Given the description of an element on the screen output the (x, y) to click on. 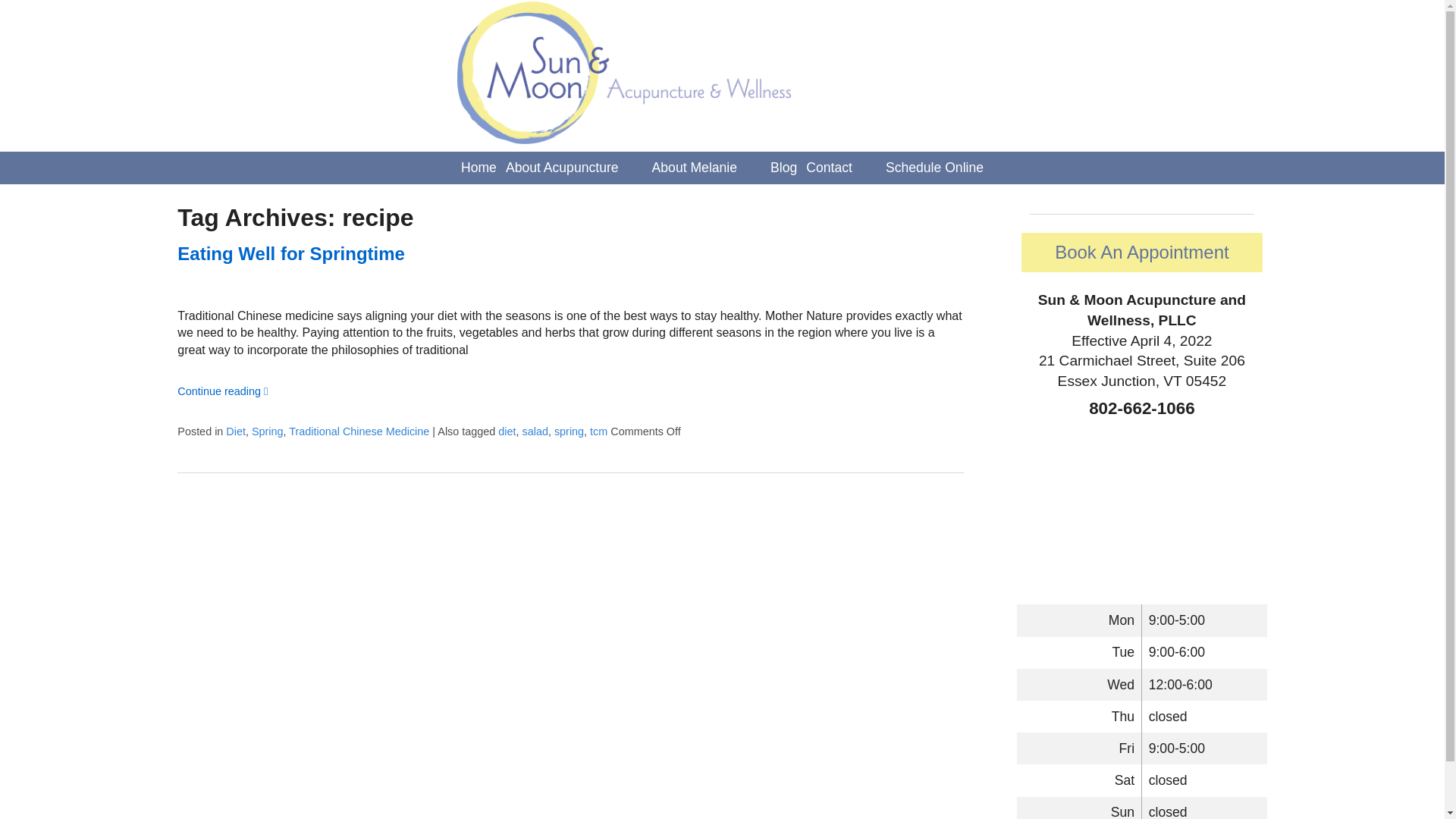
About Melanie (694, 167)
Home (478, 167)
salad (534, 431)
spring (568, 431)
Contact (829, 167)
Blog (783, 167)
Continue reading (222, 390)
tcm (598, 431)
Read (290, 253)
Schedule Online (934, 167)
Eating Well for Springtime (290, 253)
Traditional Chinese Medicine (358, 431)
About Acupuncture (561, 167)
Diet (235, 431)
diet (506, 431)
